Given the description of an element on the screen output the (x, y) to click on. 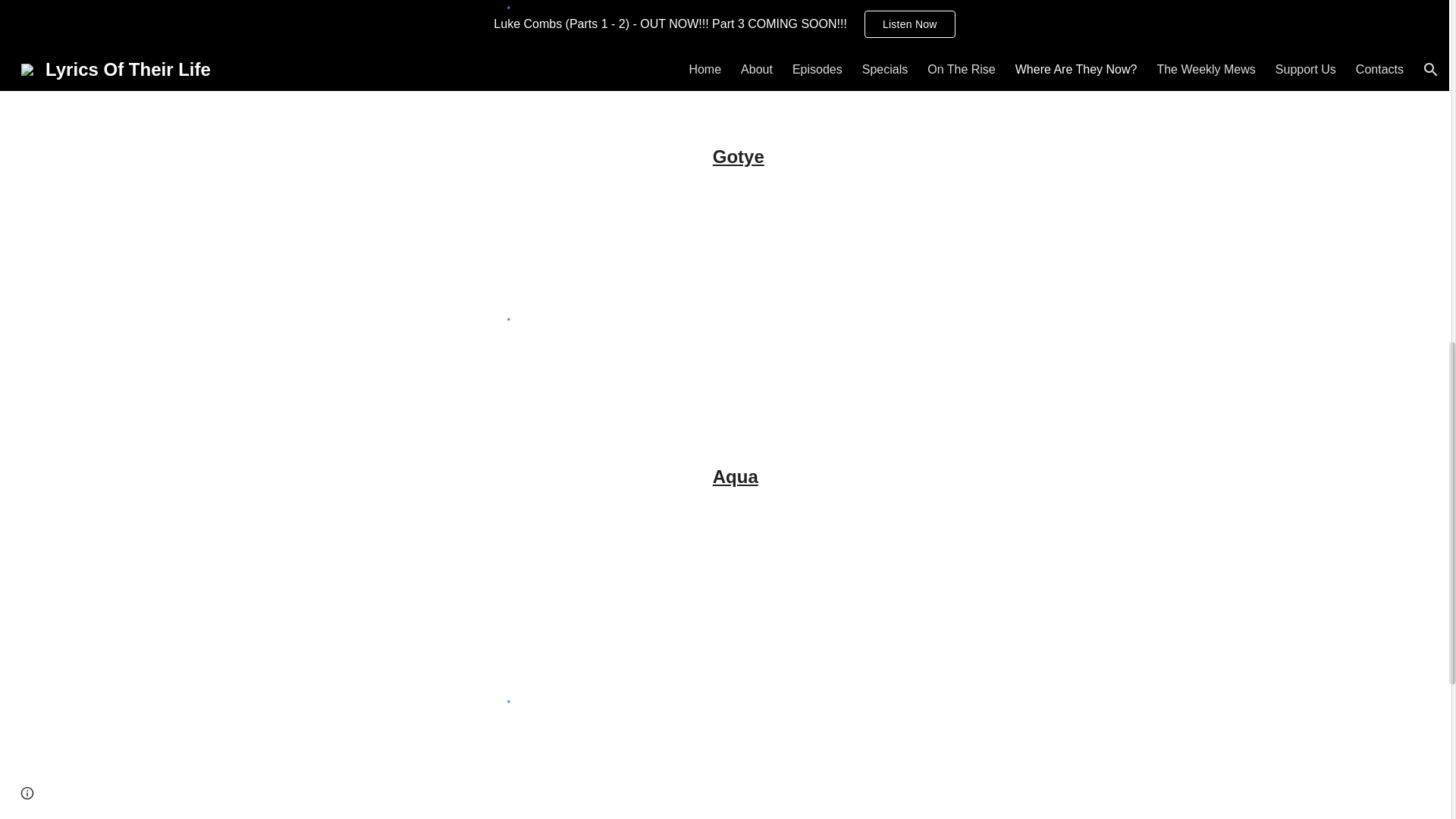
Custom embed (499, 314)
Custom embed (499, 677)
Custom embed (499, 49)
